Given the description of an element on the screen output the (x, y) to click on. 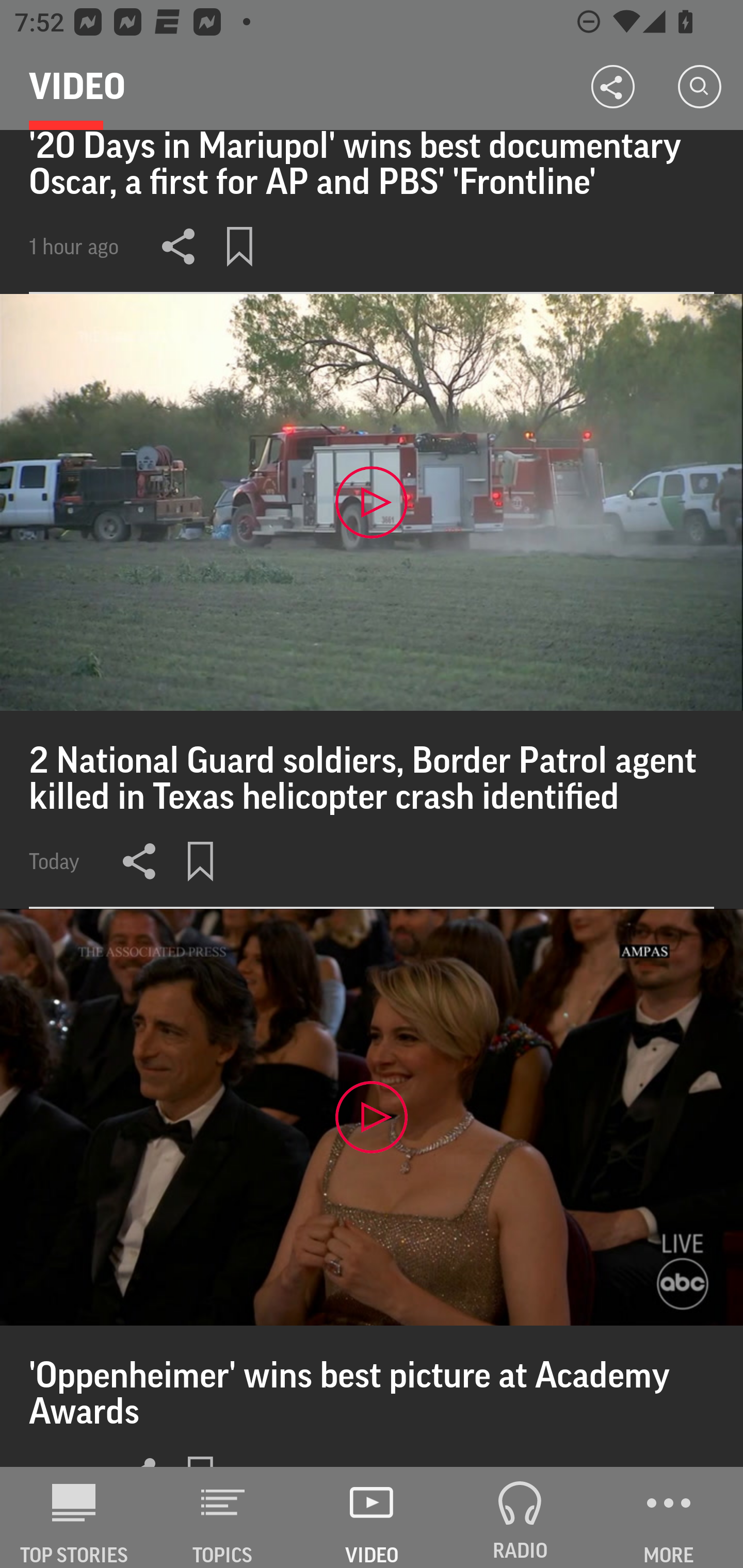
AP News TOP STORIES (74, 1517)
TOPICS (222, 1517)
VIDEO (371, 1517)
RADIO (519, 1517)
MORE (668, 1517)
